Given the description of an element on the screen output the (x, y) to click on. 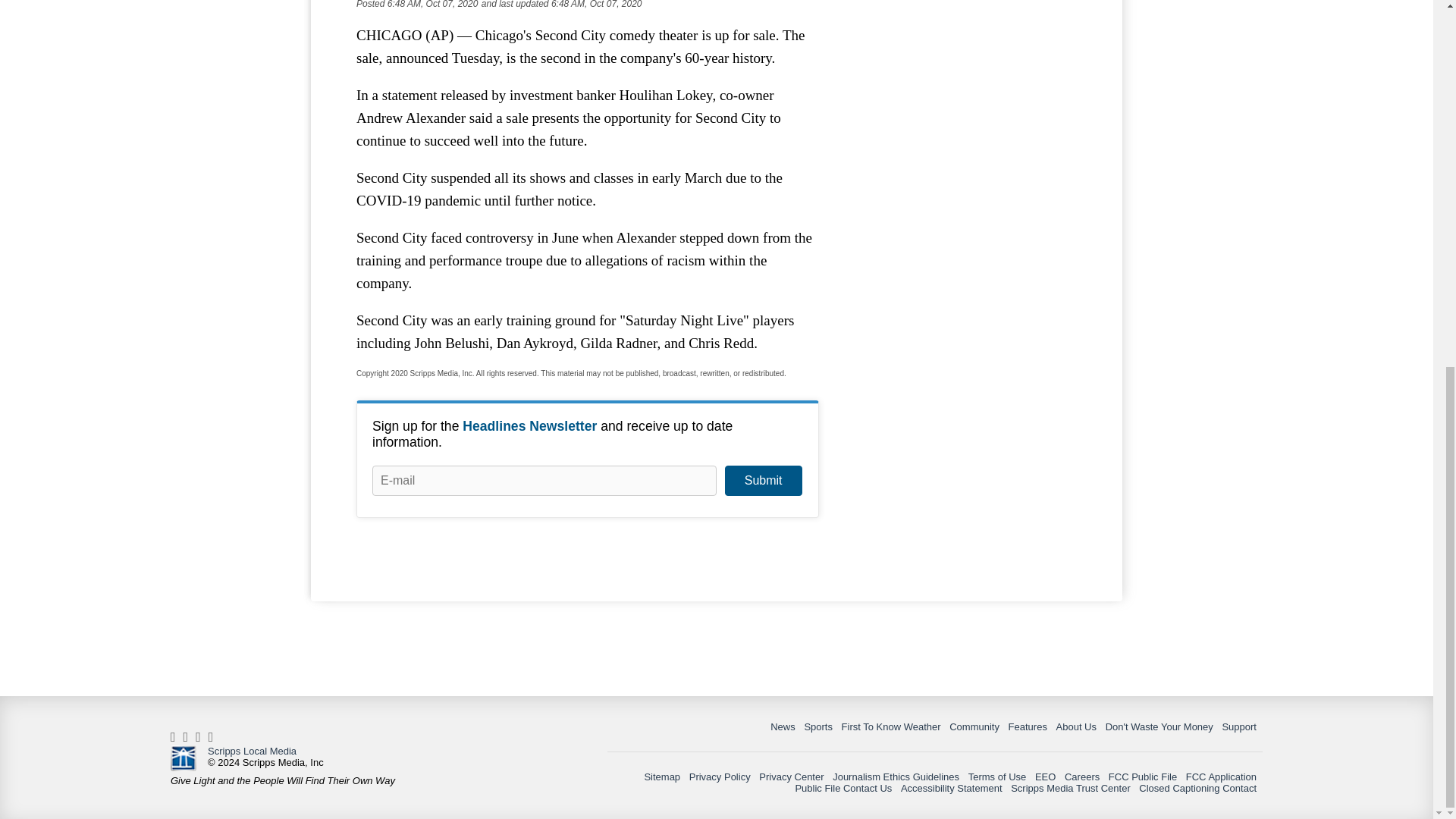
Submit (763, 481)
